Given the description of an element on the screen output the (x, y) to click on. 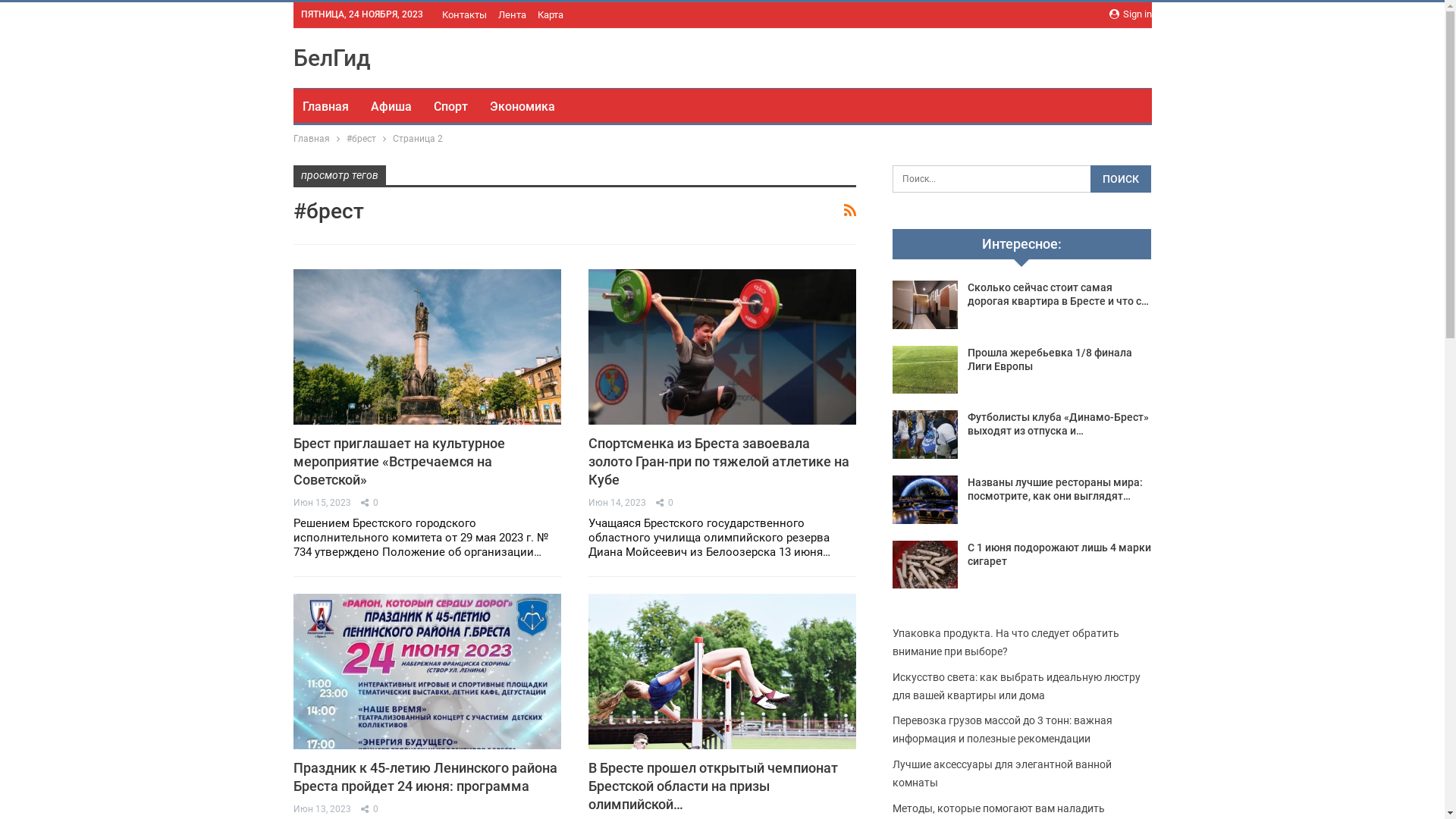
Sign in Element type: text (1129, 14)
